Given the description of an element on the screen output the (x, y) to click on. 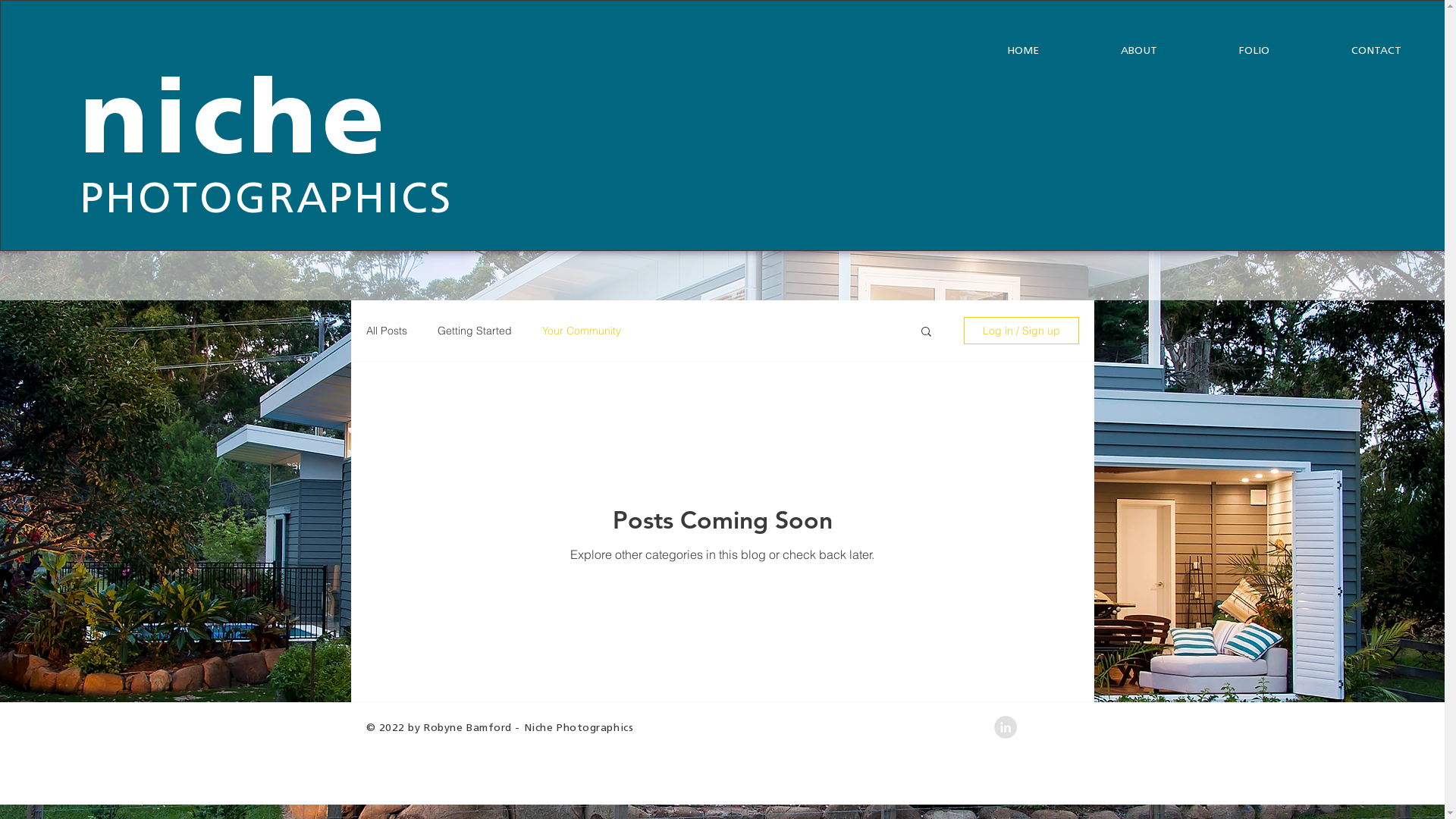
All Posts Element type: text (385, 330)
Your Community Element type: text (580, 330)
niche Element type: text (234, 124)
HOME Element type: text (1022, 50)
Getting Started Element type: text (473, 330)
Log in / Sign up Element type: text (1020, 330)
CONTACT Element type: text (1375, 50)
ABOUT Element type: text (1138, 50)
FOLIO Element type: text (1254, 50)
